Given the description of an element on the screen output the (x, y) to click on. 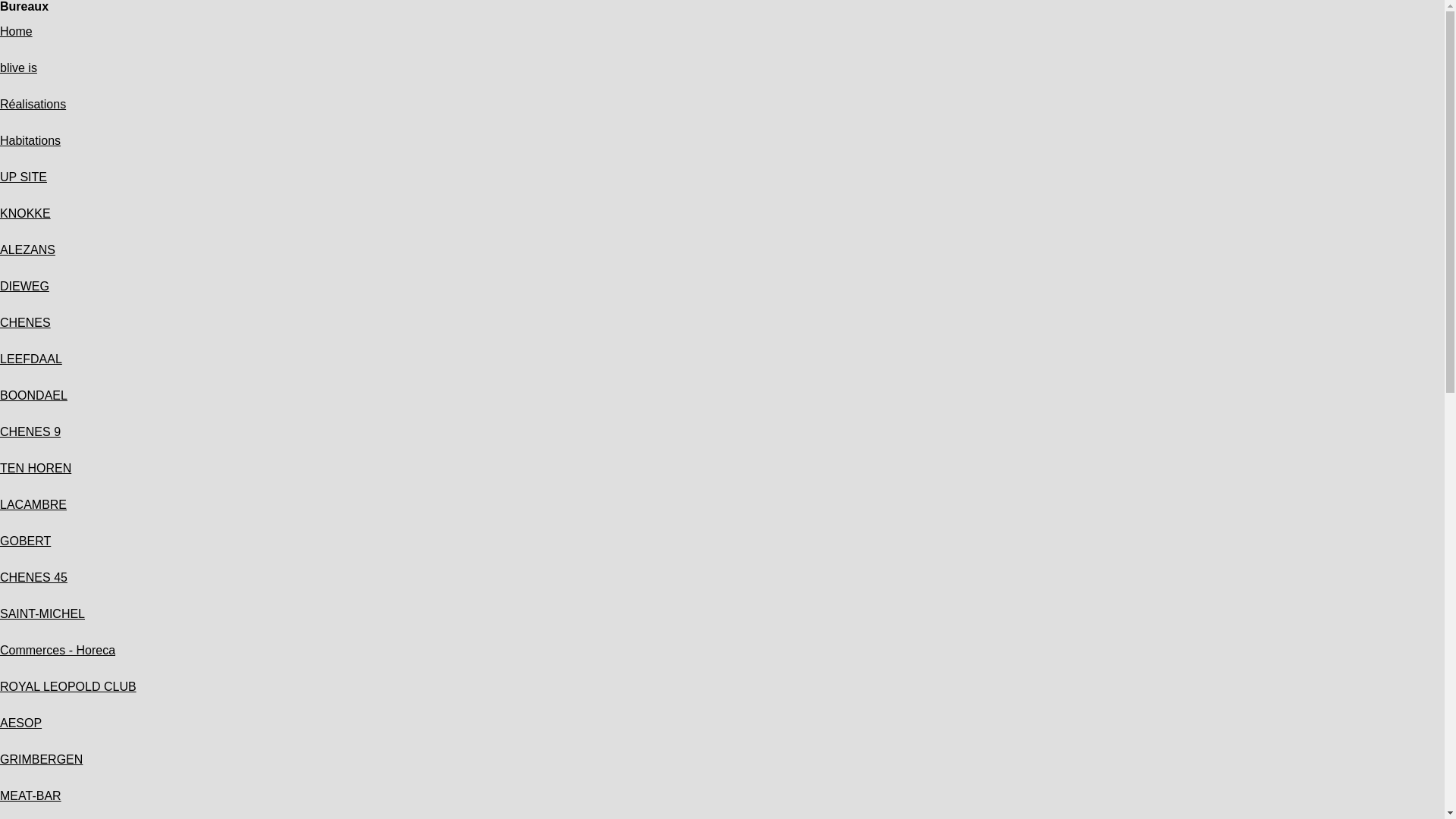
CHENES Element type: text (25, 322)
KNOKKE Element type: text (25, 213)
Commerces - Horeca Element type: text (57, 649)
TEN HOREN Element type: text (35, 467)
BOONDAEL Element type: text (33, 395)
ALEZANS Element type: text (27, 249)
LACAMBRE Element type: text (33, 504)
CHENES 9 Element type: text (30, 431)
blive is Element type: text (18, 67)
AESOP Element type: text (20, 722)
CHENES 45 Element type: text (33, 577)
GOBERT Element type: text (25, 540)
UP SITE Element type: text (23, 176)
DIEWEG Element type: text (24, 285)
MEAT-BAR Element type: text (30, 795)
SAINT-MICHEL Element type: text (42, 613)
LEEFDAAL Element type: text (31, 358)
ROYAL LEOPOLD CLUB Element type: text (68, 686)
Home Element type: text (16, 31)
Habitations Element type: text (30, 140)
GRIMBERGEN Element type: text (41, 759)
